Given the description of an element on the screen output the (x, y) to click on. 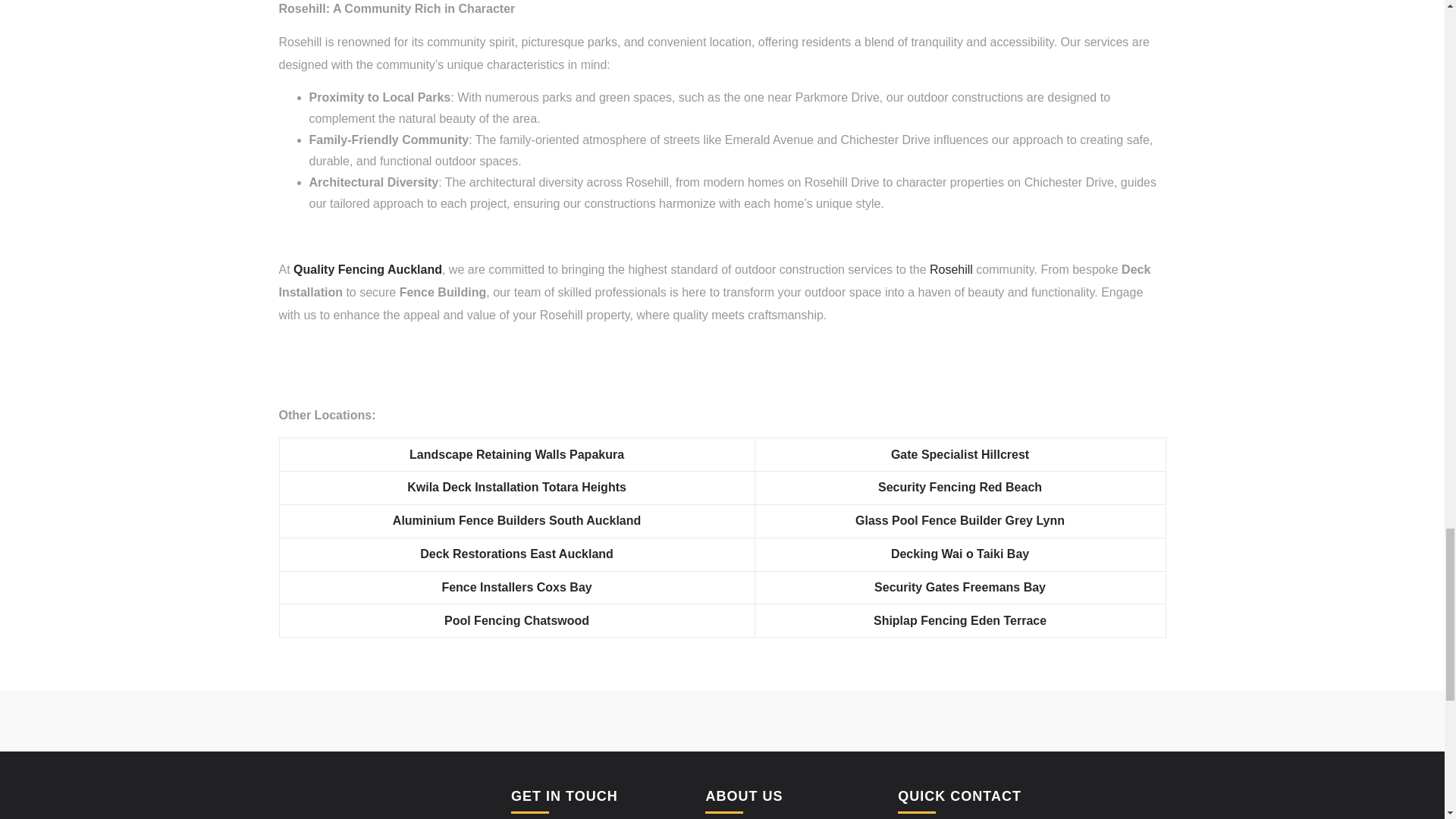
Deck Restorations East Auckland (516, 553)
Landscape Retaining Walls Papakura (516, 454)
Fence Installers Coxs Bay (516, 586)
Kwila Deck Installation Totara Heights (516, 486)
Security Fencing Red Beach (959, 486)
Decking Wai o Taiki Bay (960, 553)
Gate Specialist Hillcrest (960, 454)
Quality Fencing Auckland (368, 269)
Glass Pool Fence Builder Grey Lynn (960, 520)
Security Gates Freemans Bay (960, 586)
